Given the description of an element on the screen output the (x, y) to click on. 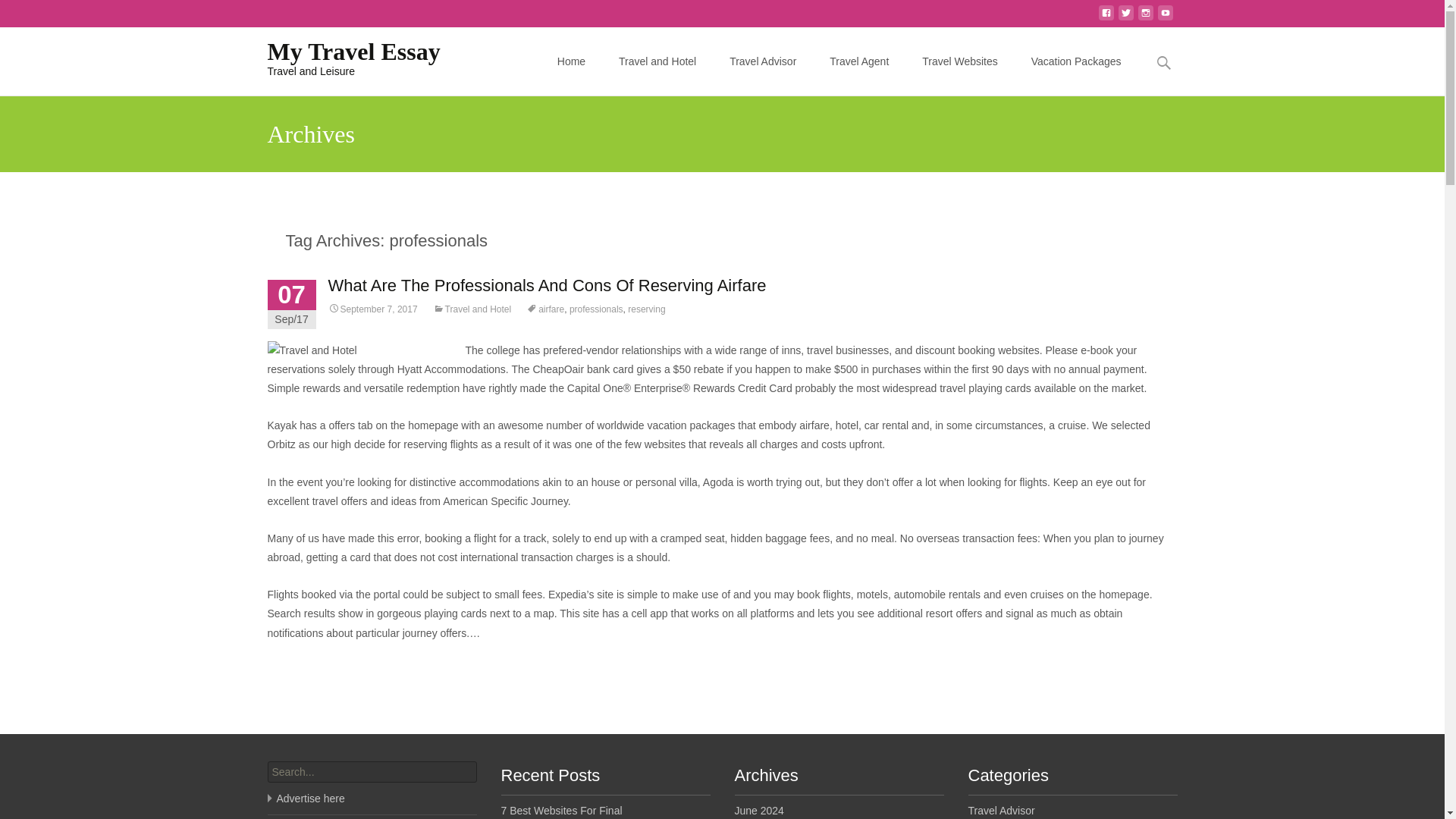
Search (18, 14)
Travel Advisor (341, 57)
June 2024 (762, 61)
Travel Websites (758, 810)
My Travel Essay (959, 61)
Vacation Packages (341, 57)
instagram (1075, 61)
airfare (1145, 17)
What Are The Professionals And Cons Of Reserving Airfare (544, 308)
Search for: (546, 285)
facebook (1163, 62)
twitter (1105, 17)
Skip to content (1125, 17)
